Given the description of an element on the screen output the (x, y) to click on. 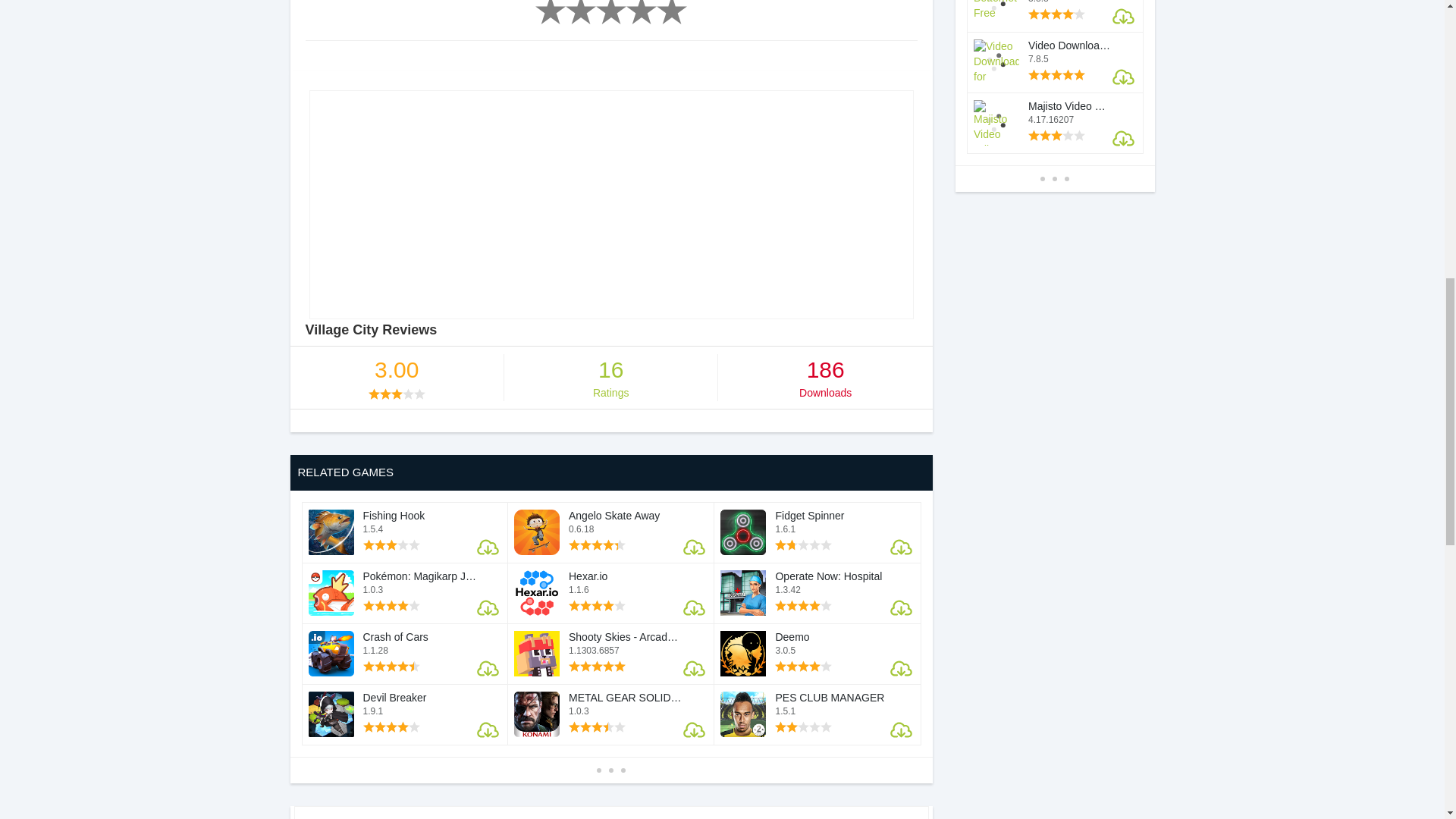
Advertisement (611, 204)
